Given the description of an element on the screen output the (x, y) to click on. 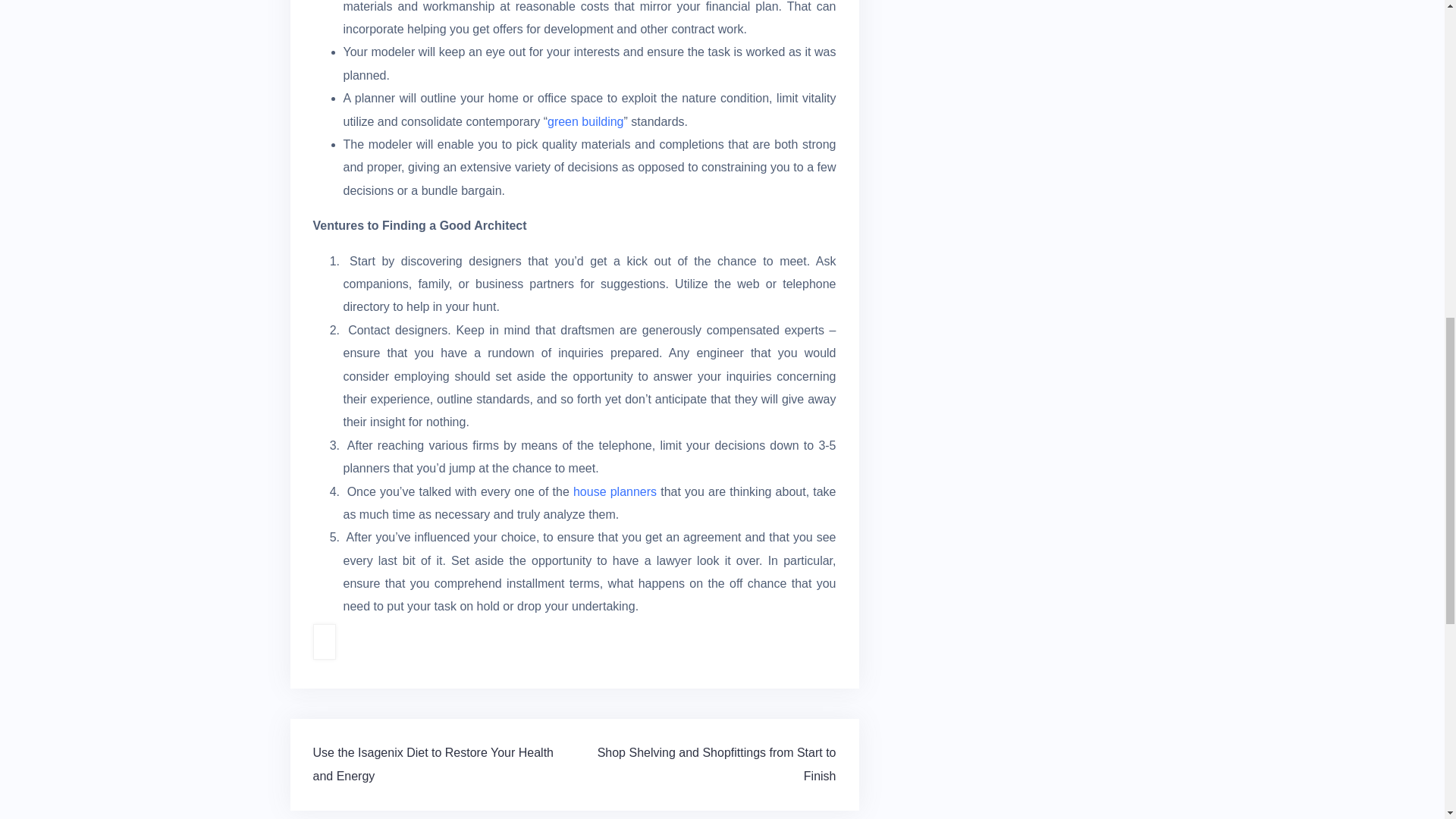
house planners (614, 491)
Use the Isagenix Diet to Restore Your Health and Energy (433, 764)
Shop Shelving and Shopfittings from Start to Finish (715, 764)
green building (585, 121)
